Given the description of an element on the screen output the (x, y) to click on. 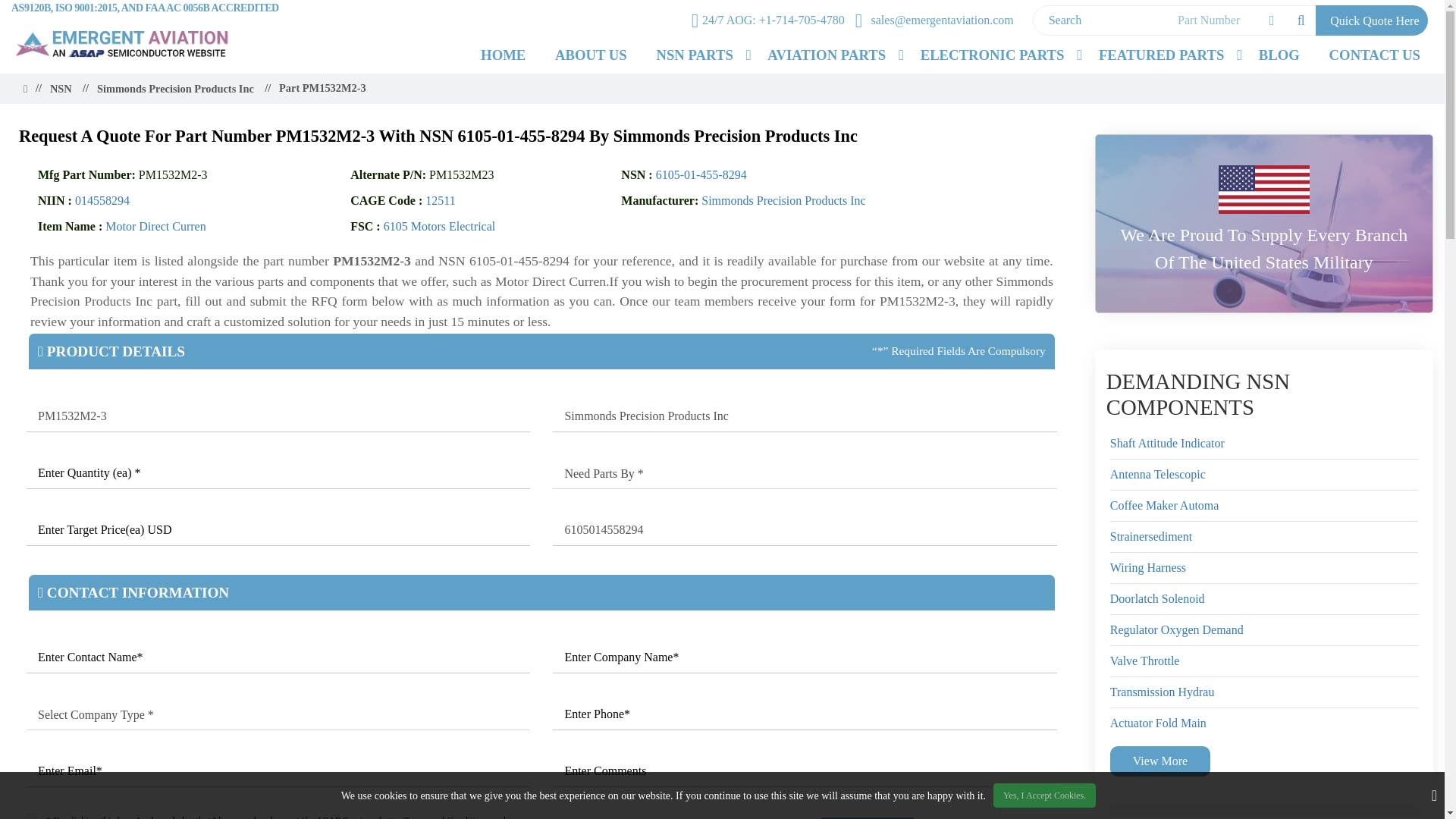
HOME (502, 54)
NSN (60, 89)
on (31, 816)
NSN PARTS (694, 54)
ABOUT US (590, 54)
Simmonds Precision Products Inc (805, 417)
AVIATION PARTS (826, 54)
ELECTRONIC PARTS (992, 54)
BLOG (1279, 54)
PM1532M2-3 (277, 417)
  Quick Quote Here (1372, 20)
CONTACT US (1374, 54)
FEATURED PARTS (1161, 54)
6105014558294 (805, 530)
